Given the description of an element on the screen output the (x, y) to click on. 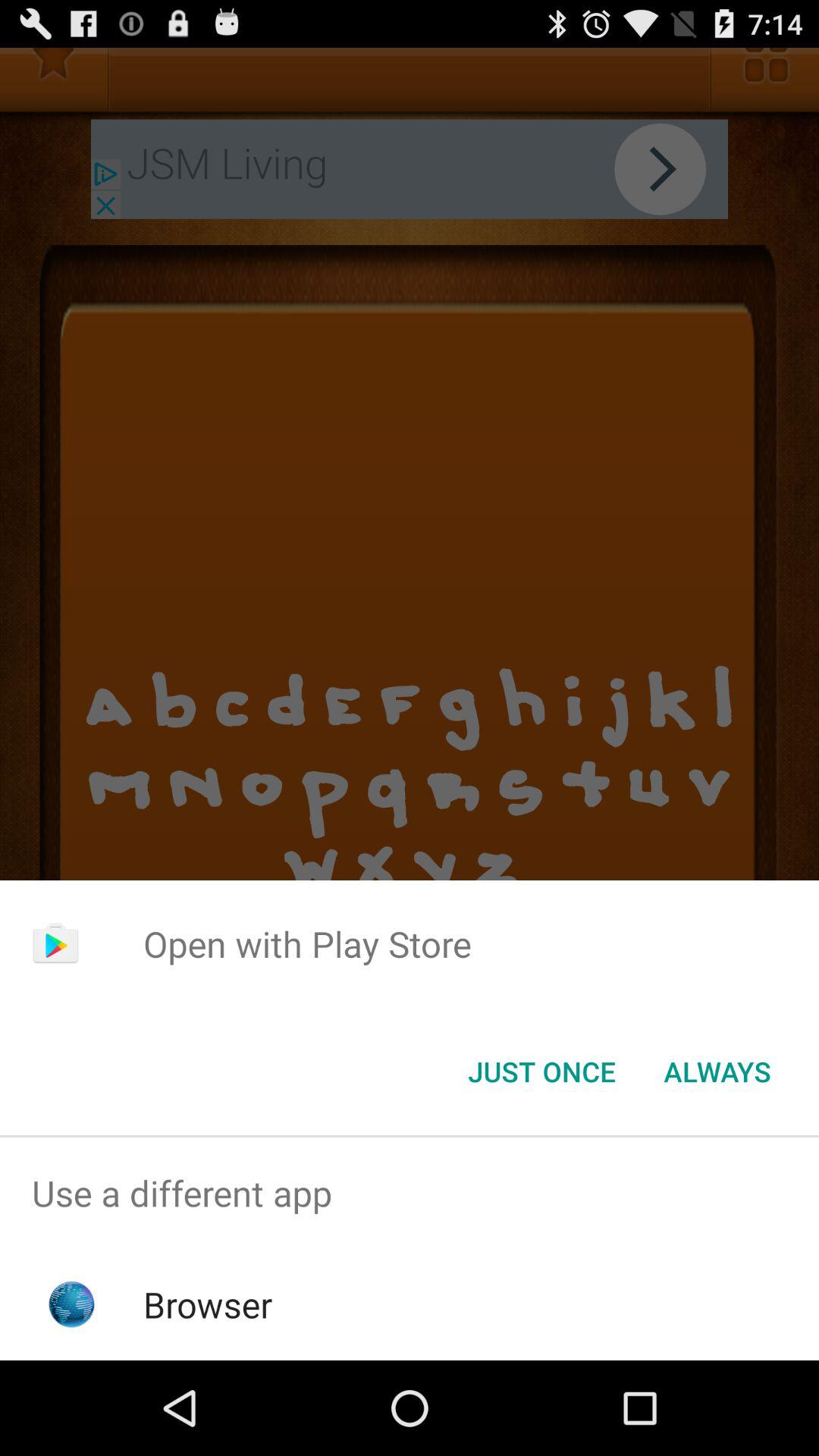
open item next to just once icon (717, 1071)
